Given the description of an element on the screen output the (x, y) to click on. 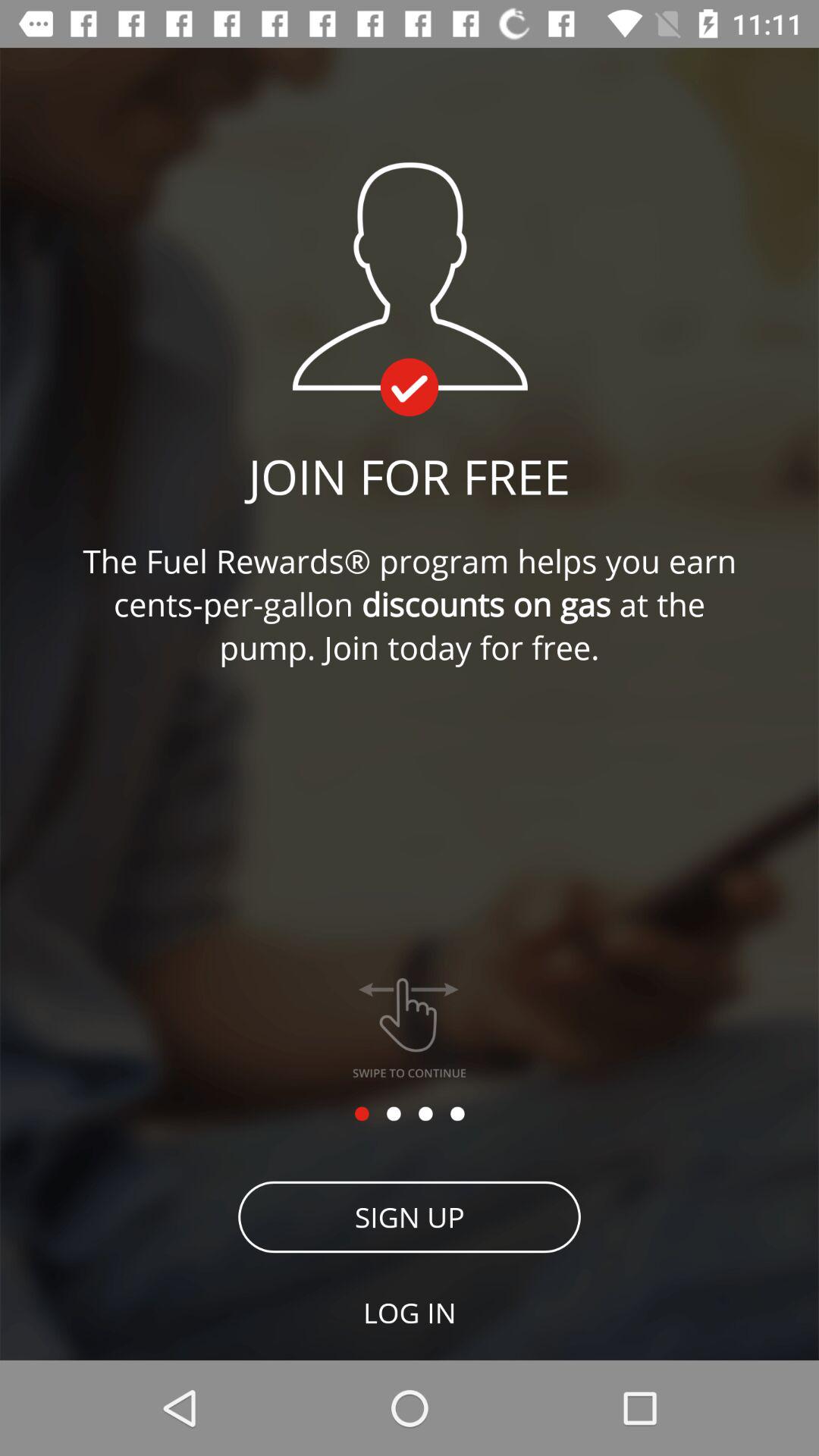
turn on icon above log in item (409, 1216)
